Given the description of an element on the screen output the (x, y) to click on. 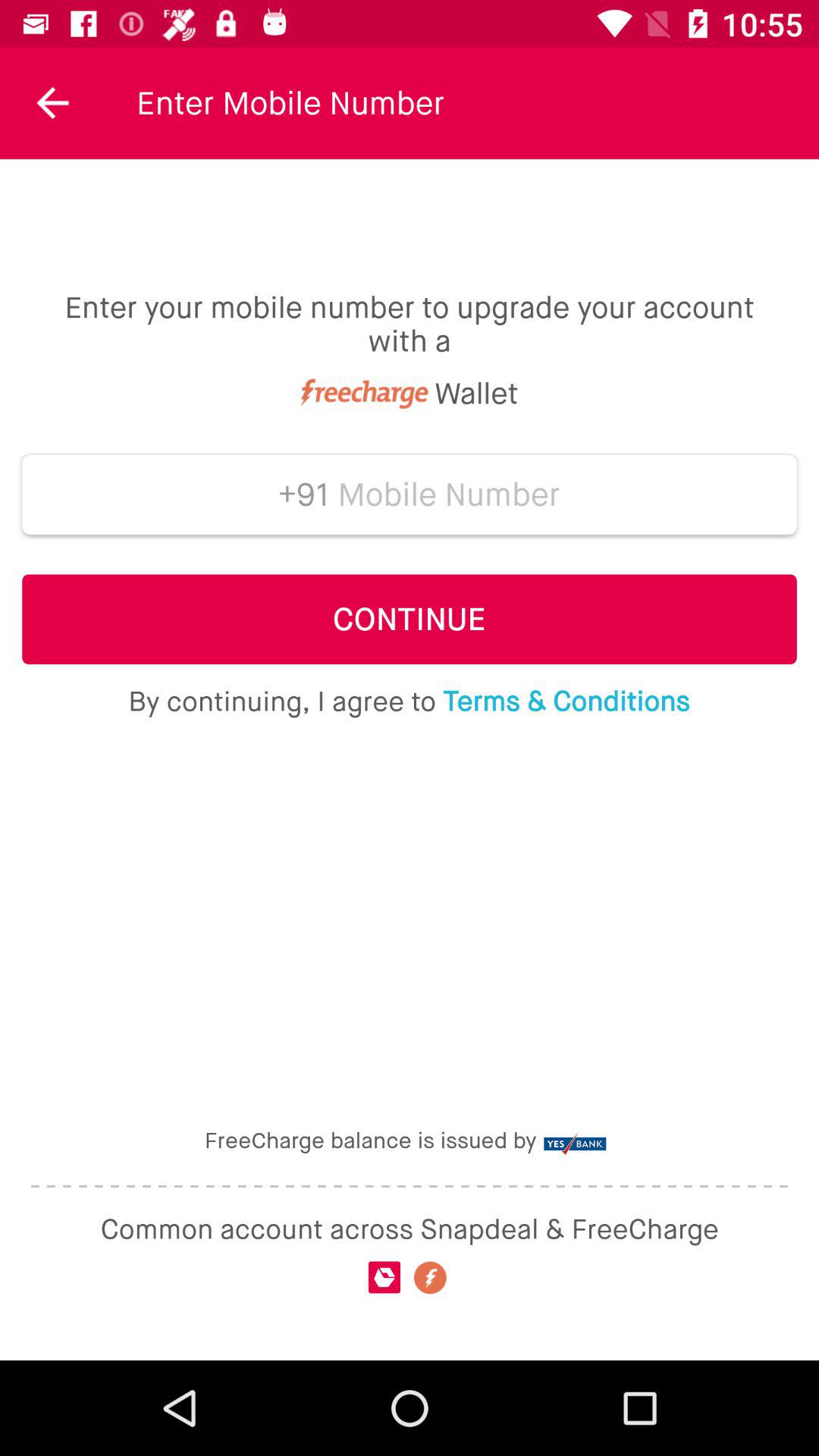
funo voltar (52, 102)
